Given the description of an element on the screen output the (x, y) to click on. 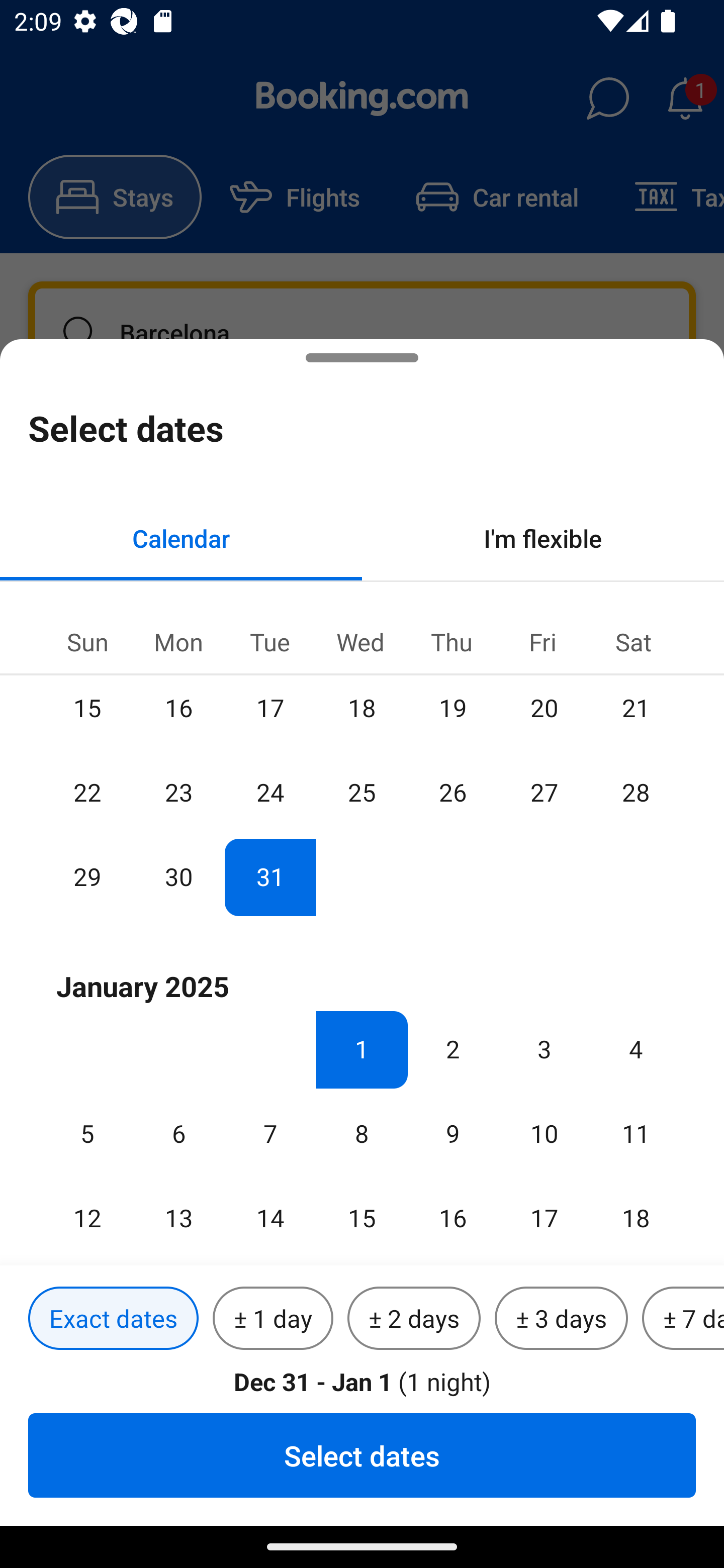
I'm flexible (543, 537)
Exact dates (113, 1318)
± 1 day (272, 1318)
± 2 days (413, 1318)
± 3 days (560, 1318)
± 7 days (683, 1318)
Select dates (361, 1454)
